Given the description of an element on the screen output the (x, y) to click on. 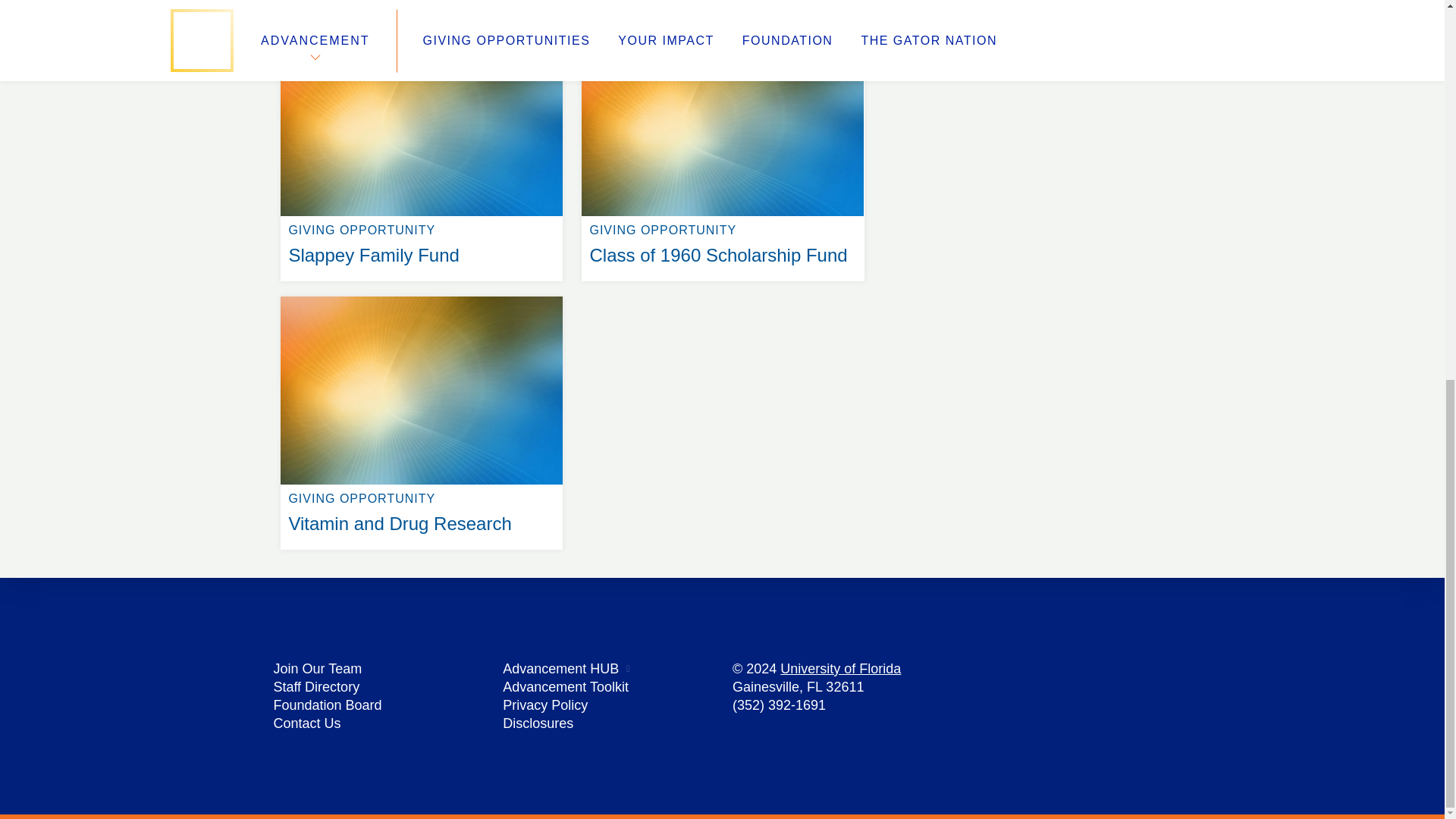
Privacy Policy (421, 296)
Staff Directory (421, 28)
Advancement Toolkit (545, 704)
Disclosures (316, 686)
Foundation Board (565, 686)
Contact Us (537, 723)
Advancement HUB (327, 704)
